Given the description of an element on the screen output the (x, y) to click on. 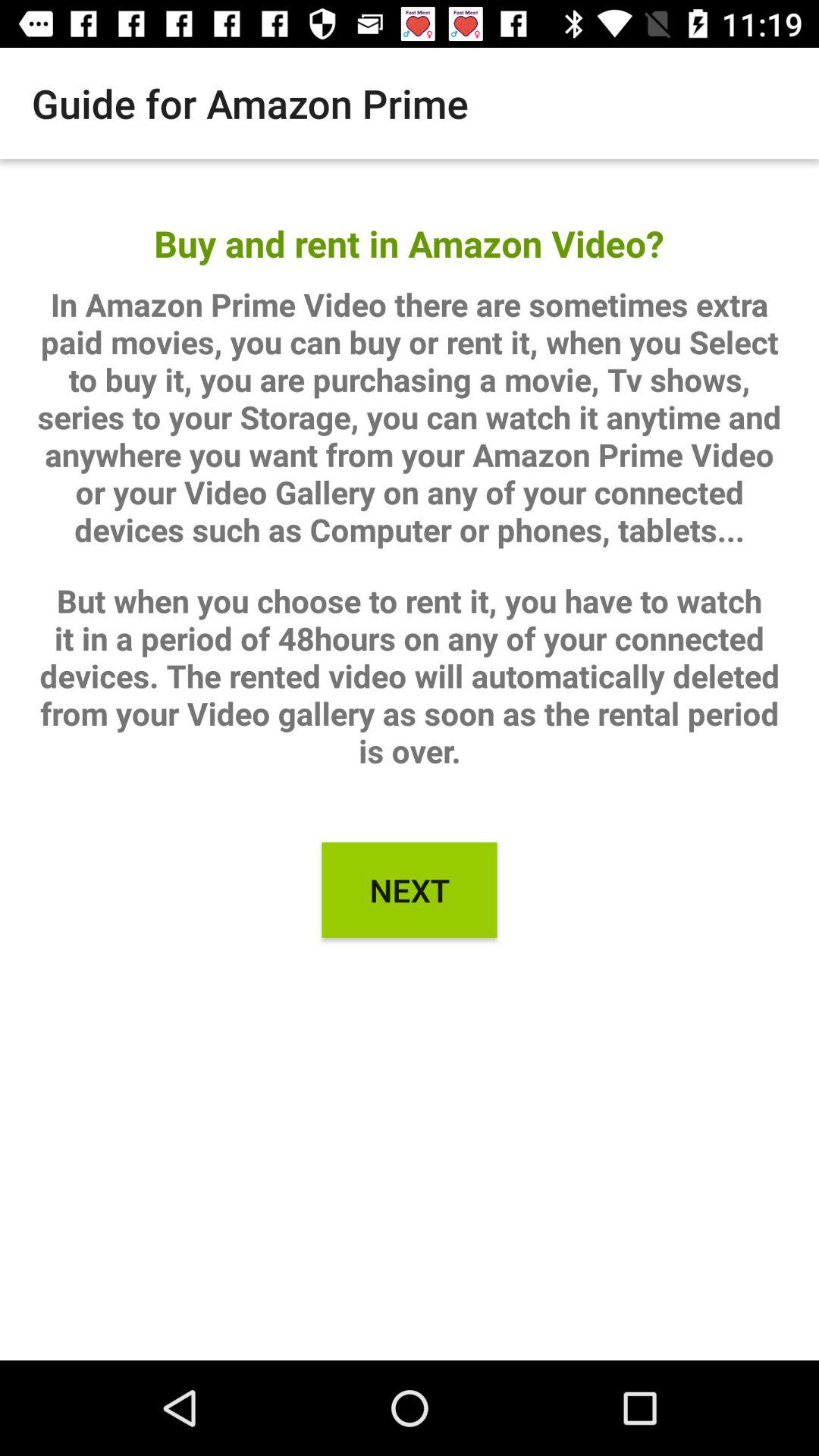
scroll until the next item (409, 889)
